Given the description of an element on the screen output the (x, y) to click on. 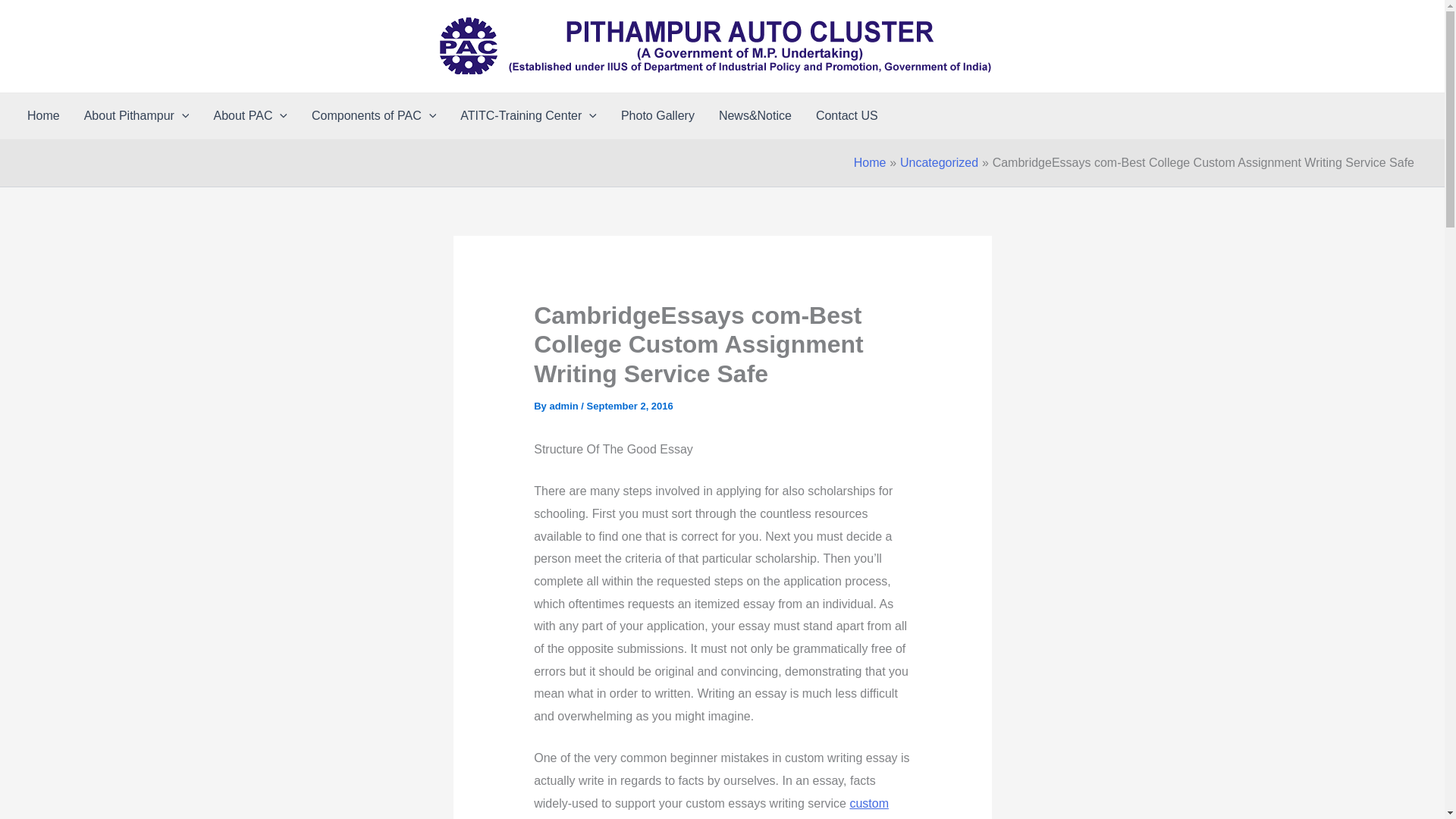
About PAC (249, 115)
Home (42, 115)
About Pithampur (136, 115)
ATITC-Training Center (528, 115)
View all posts by admin (564, 405)
Components of PAC (373, 115)
